Given the description of an element on the screen output the (x, y) to click on. 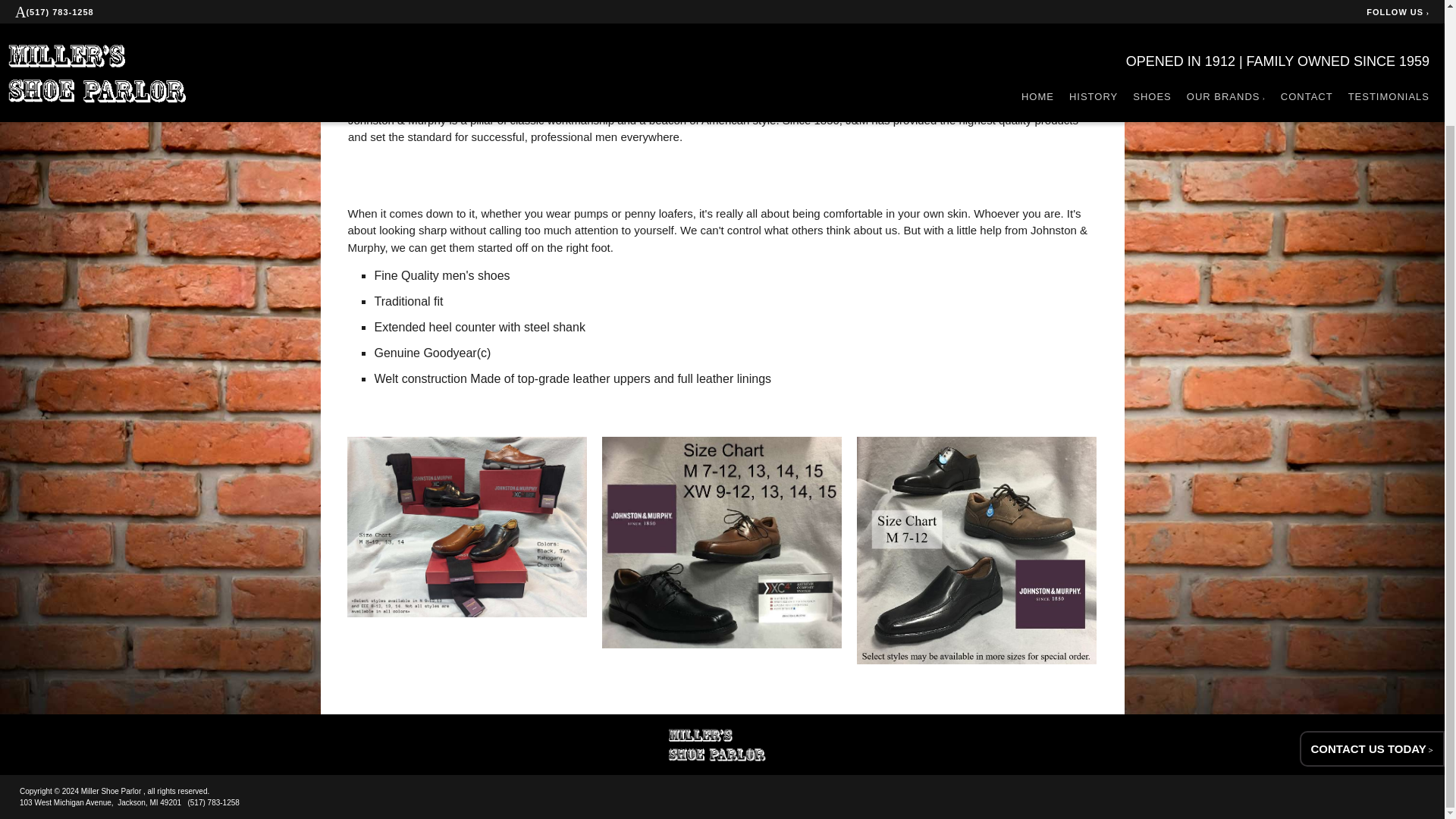
Miller Shoe Parlor (722, 744)
